Given the description of an element on the screen output the (x, y) to click on. 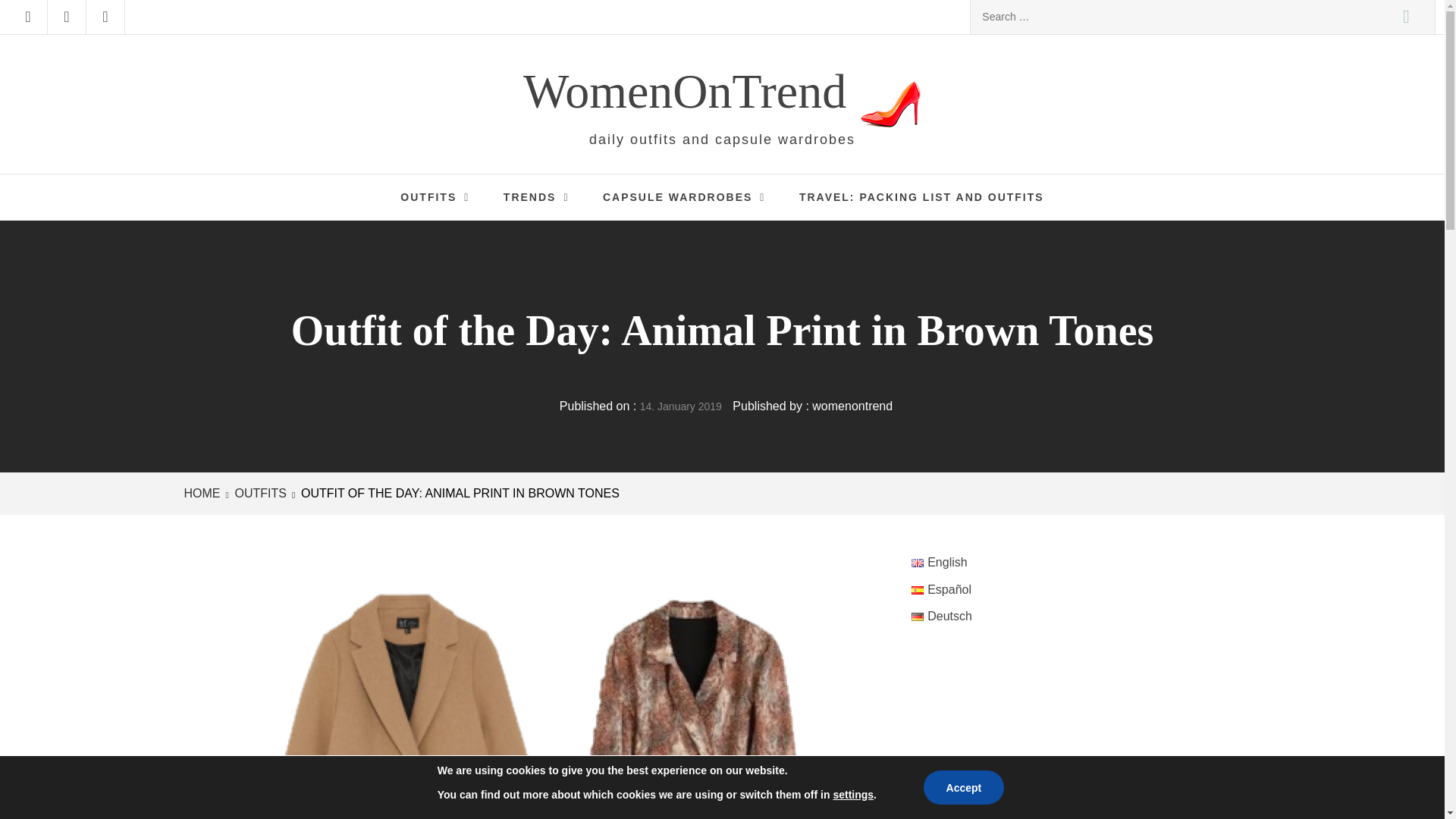
Search (1405, 17)
OUTFIT OF THE DAY: ANIMAL PRINT IN BROWN TONES (458, 492)
Search (1405, 17)
OUTFITS (437, 197)
womenontrend (852, 405)
HOME (204, 492)
Search (1405, 17)
TRAVEL: PACKING LIST AND OUTFITS (921, 197)
CAPSULE WARDROBES (687, 197)
